Given the description of an element on the screen output the (x, y) to click on. 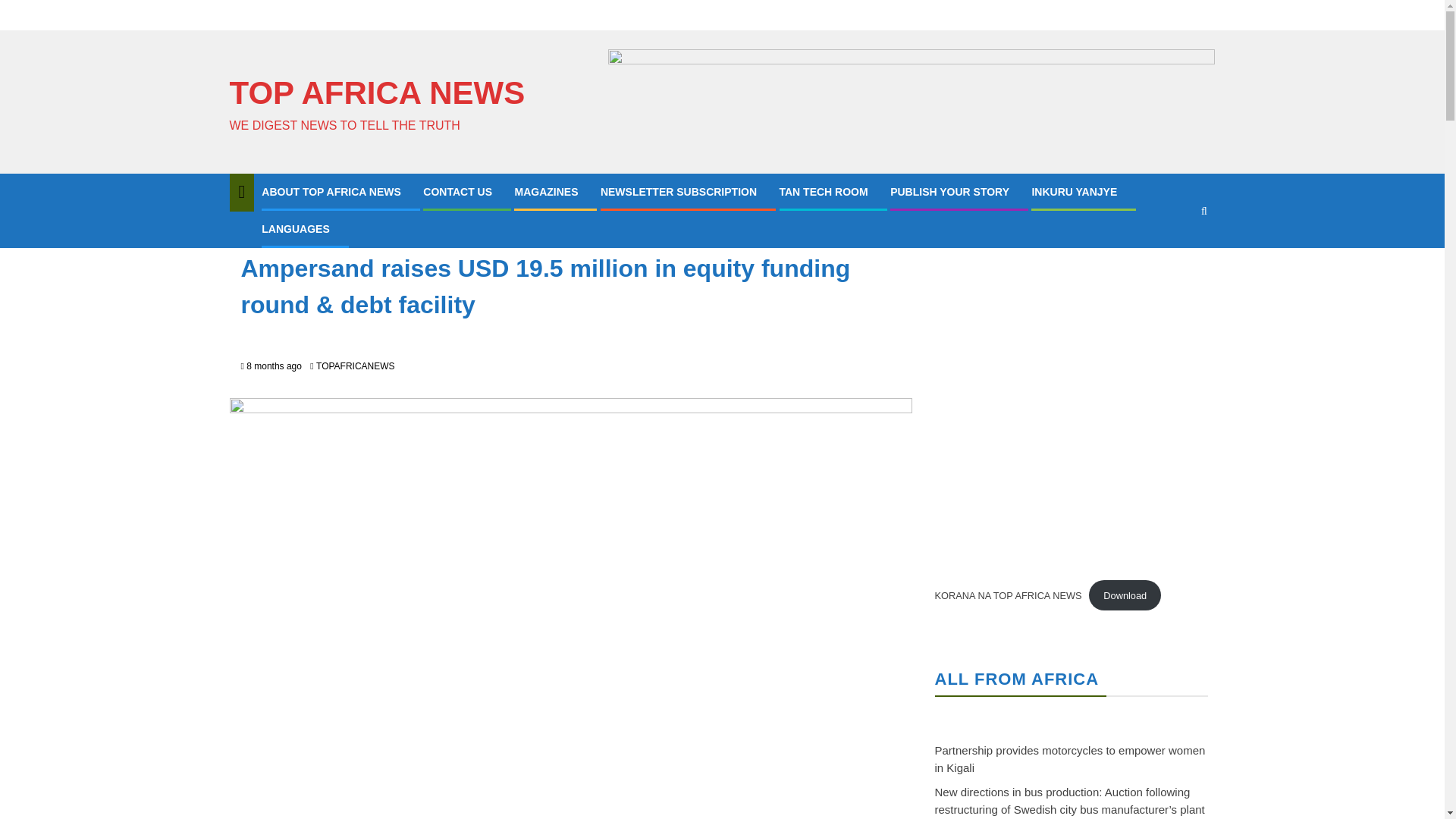
PUBLISH YOUR STORY (949, 191)
MAGAZINES (545, 191)
Environment (370, 233)
LANGUAGES (295, 228)
CONTACT US (457, 191)
TAN TECH ROOM (822, 191)
INKURU YANJYE (1073, 191)
TOP AFRICA NEWS (376, 92)
Search (1174, 256)
ABOUT TOP AFRICA NEWS (331, 191)
Business and Trade (287, 233)
NEWSLETTER SUBSCRIPTION (678, 191)
TOPAFRICANEWS (354, 366)
